Given the description of an element on the screen output the (x, y) to click on. 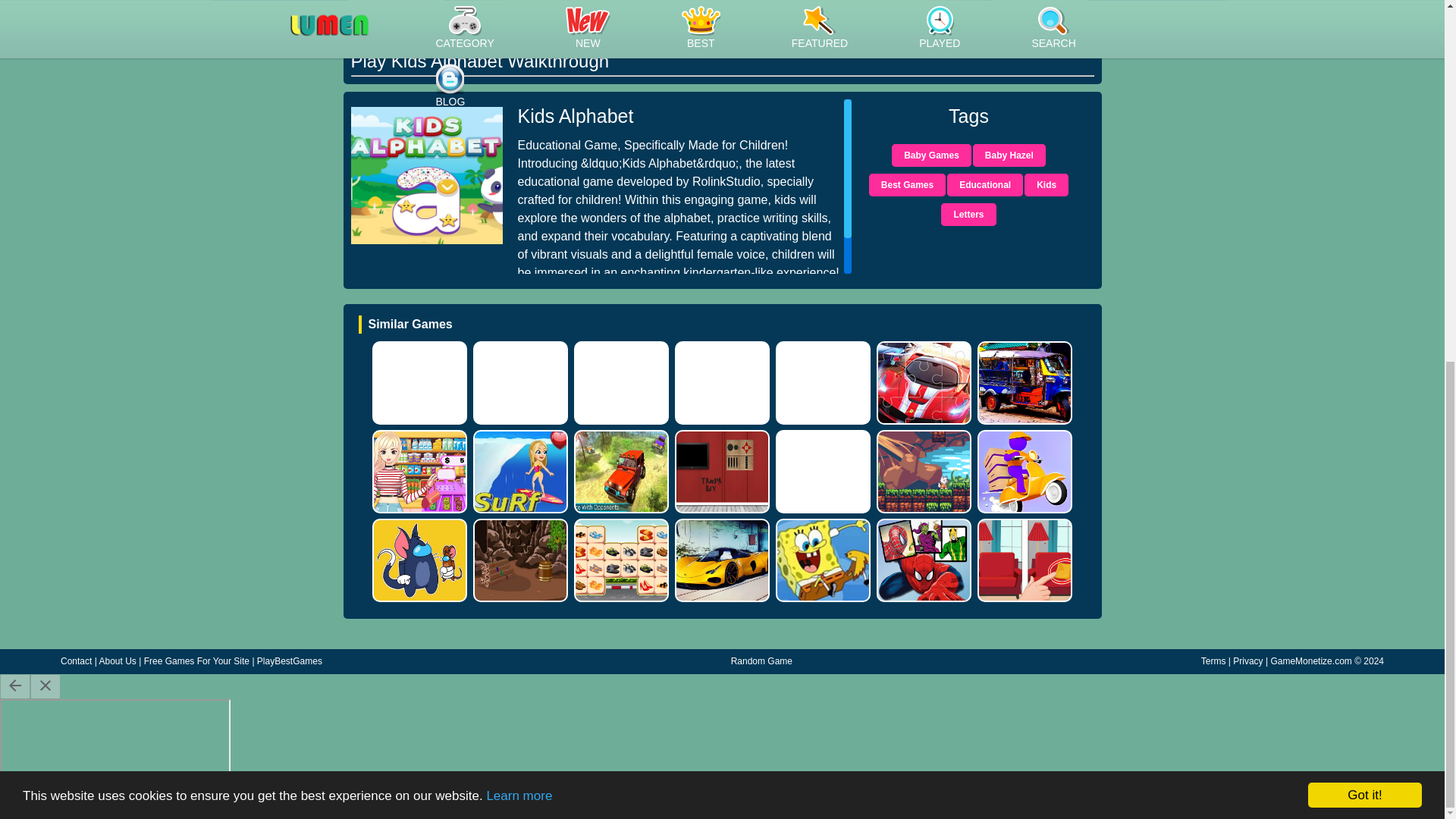
Baby Hazel (1008, 155)
Advertisement (1156, 14)
Baby Games (931, 155)
Advertisement (278, 14)
